Given the description of an element on the screen output the (x, y) to click on. 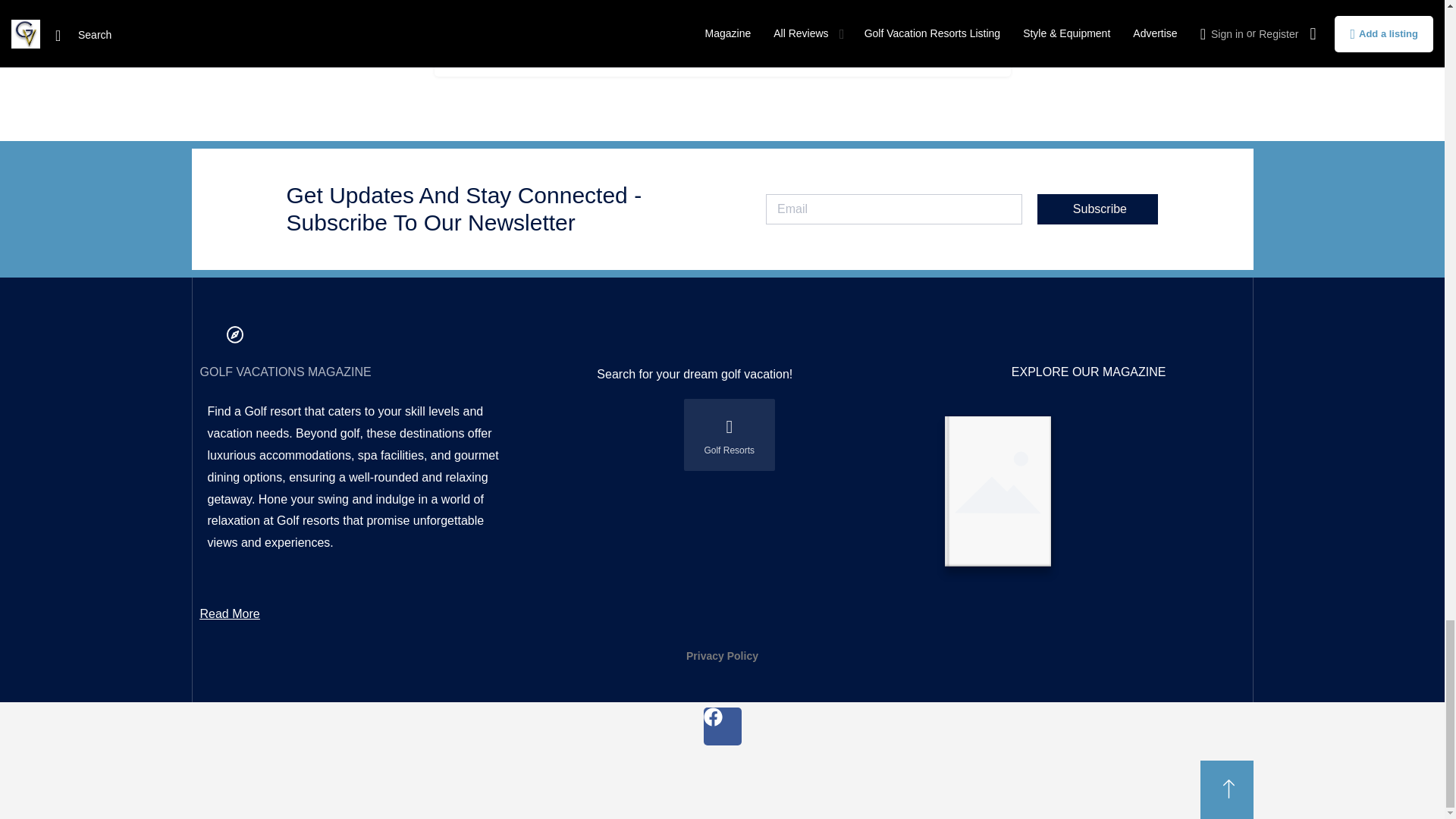
Read More (230, 613)
Privacy Policy (722, 655)
Submit comment (721, 37)
Golf Resorts (729, 434)
Subscribe (1096, 209)
